Given the description of an element on the screen output the (x, y) to click on. 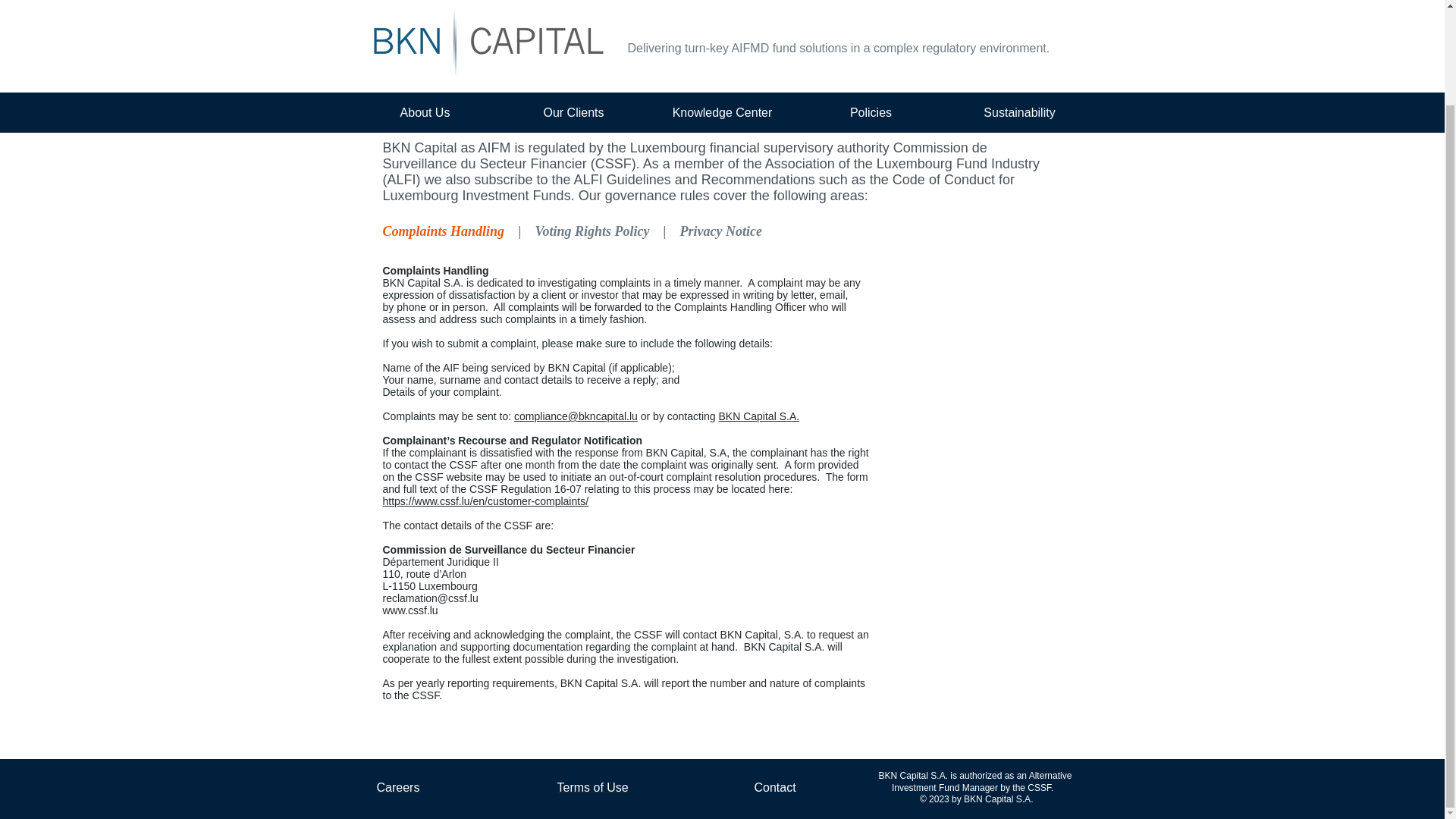
Sustainability (1018, 11)
Contact (774, 787)
Voting Rights Policy (592, 231)
www.cssf.lu (409, 610)
Privacy Notice (720, 229)
About Us (424, 11)
BKN Capital S.A. (759, 416)
Knowledge Center (721, 11)
Careers (397, 787)
Terms of Use (591, 787)
